Given the description of an element on the screen output the (x, y) to click on. 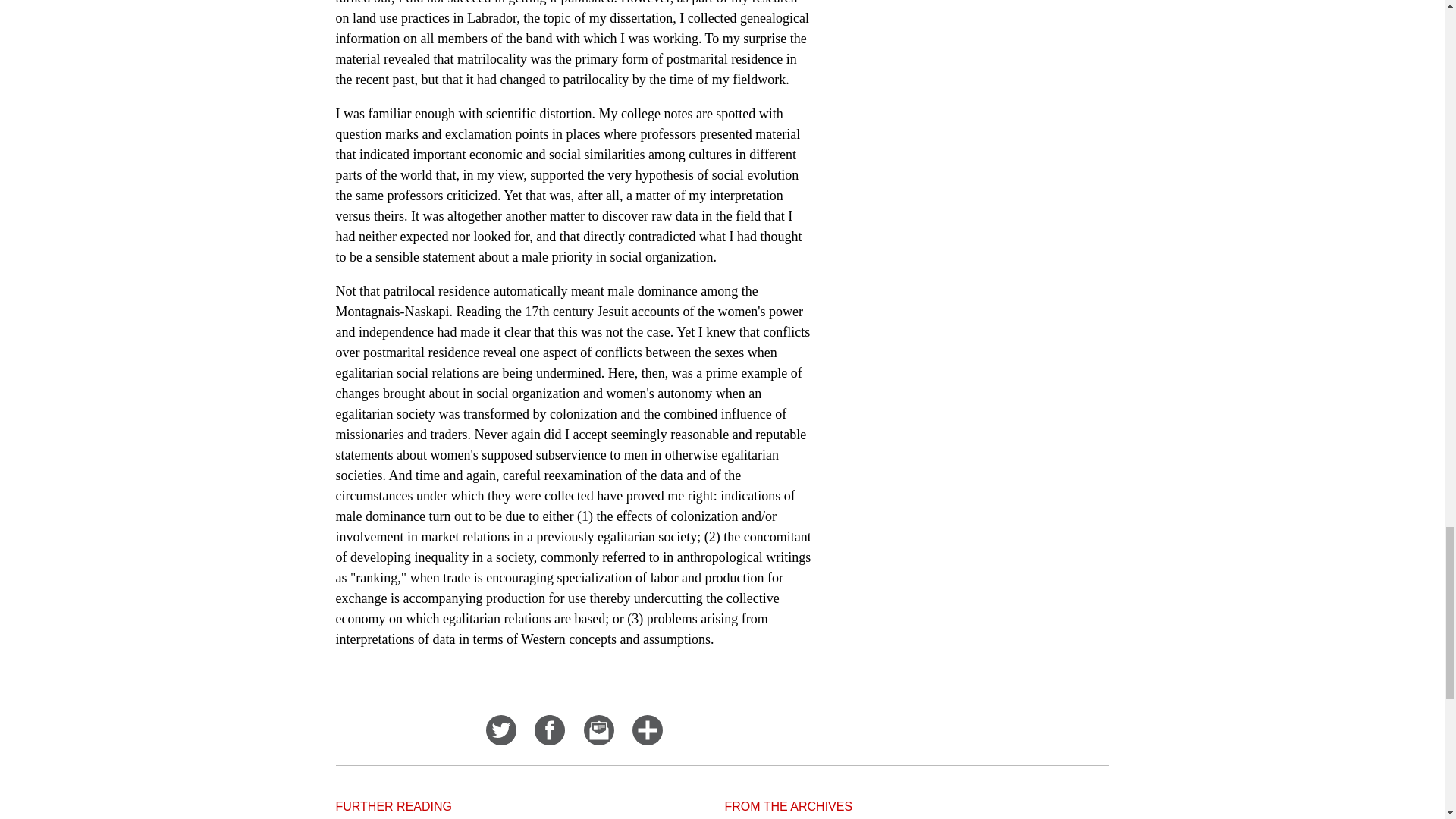
Email this story (598, 740)
Share on Twitter (501, 740)
Share on Facebook (549, 740)
Click for more options (646, 740)
